Given the description of an element on the screen output the (x, y) to click on. 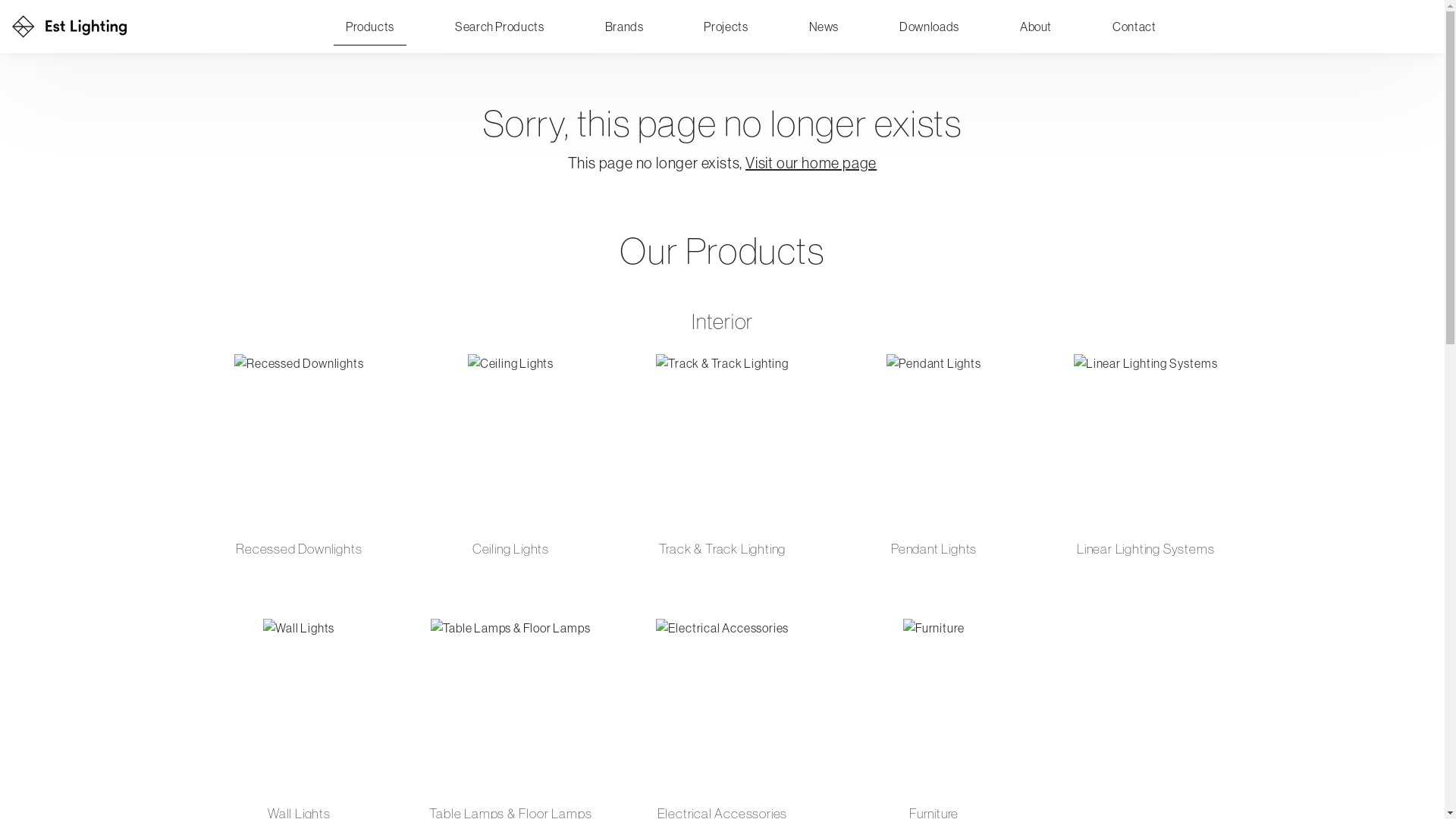
Brands Element type: text (624, 26)
Visit our home page Element type: text (810, 162)
About Element type: text (1035, 26)
Search Products Element type: text (499, 26)
News Element type: text (824, 26)
Contact Element type: text (1133, 26)
Projects Element type: text (725, 26)
Products Element type: text (369, 26)
Downloads Element type: text (929, 26)
